Given the description of an element on the screen output the (x, y) to click on. 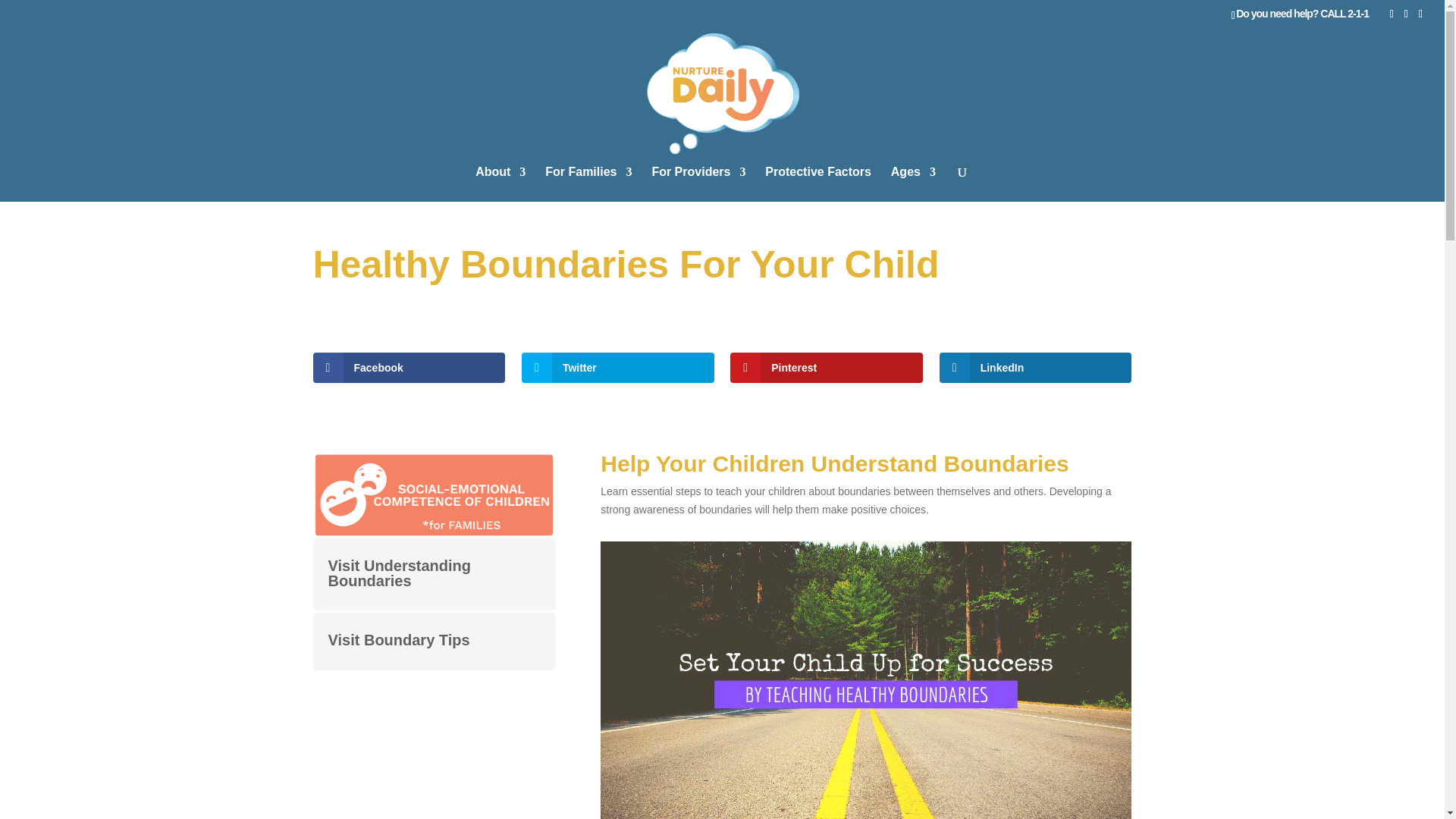
Protective Factors (817, 184)
For Providers (697, 184)
Ages (913, 184)
About (500, 184)
For Families (587, 184)
